Given the description of an element on the screen output the (x, y) to click on. 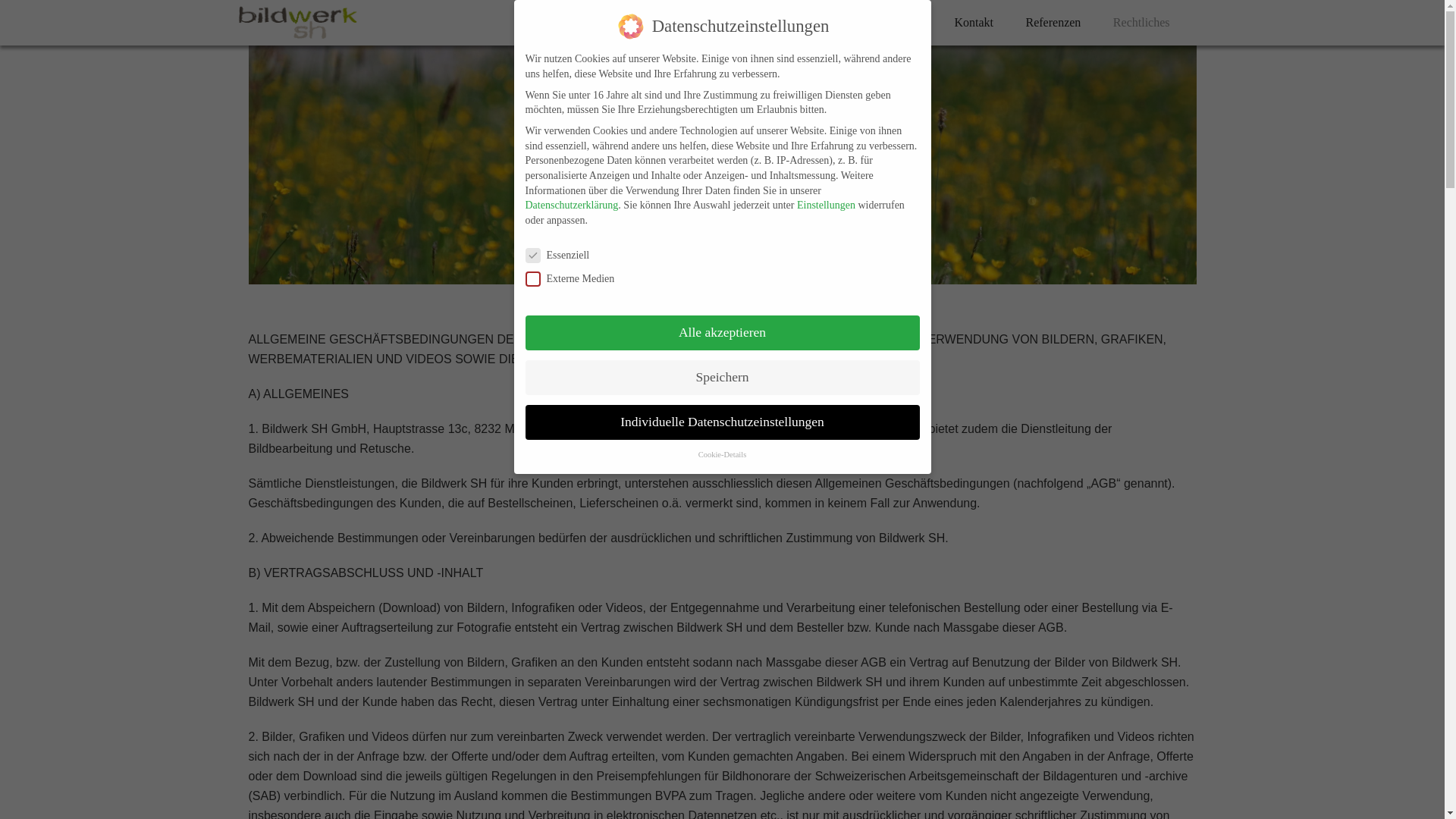
Einstellungen Element type: text (826, 204)
Alle akzeptieren Element type: text (721, 332)
Services Element type: text (841, 21)
News Element type: text (908, 21)
Individuelle Datenschutzeinstellungen Element type: text (721, 421)
Referenzen Element type: text (1053, 21)
Kontakt Element type: text (973, 21)
Speichern Element type: text (721, 377)
Rechtliches Element type: text (1141, 21)
Cookie-Details Element type: text (722, 454)
Unsere Arbeiten Element type: text (748, 21)
